Given the description of an element on the screen output the (x, y) to click on. 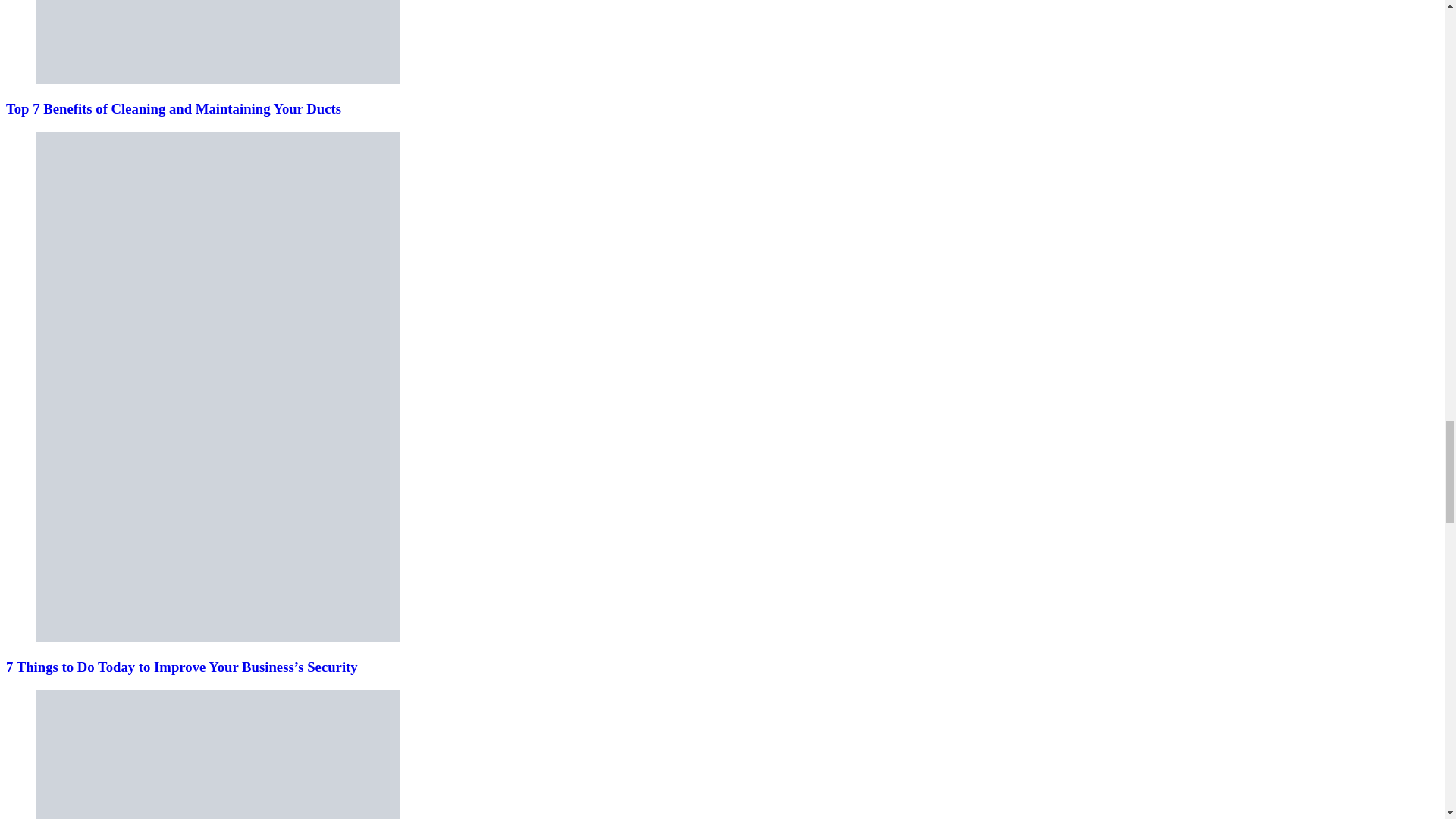
Top 7 Benefits of Cleaning and Maintaining Your Ducts (172, 108)
